Given the description of an element on the screen output the (x, y) to click on. 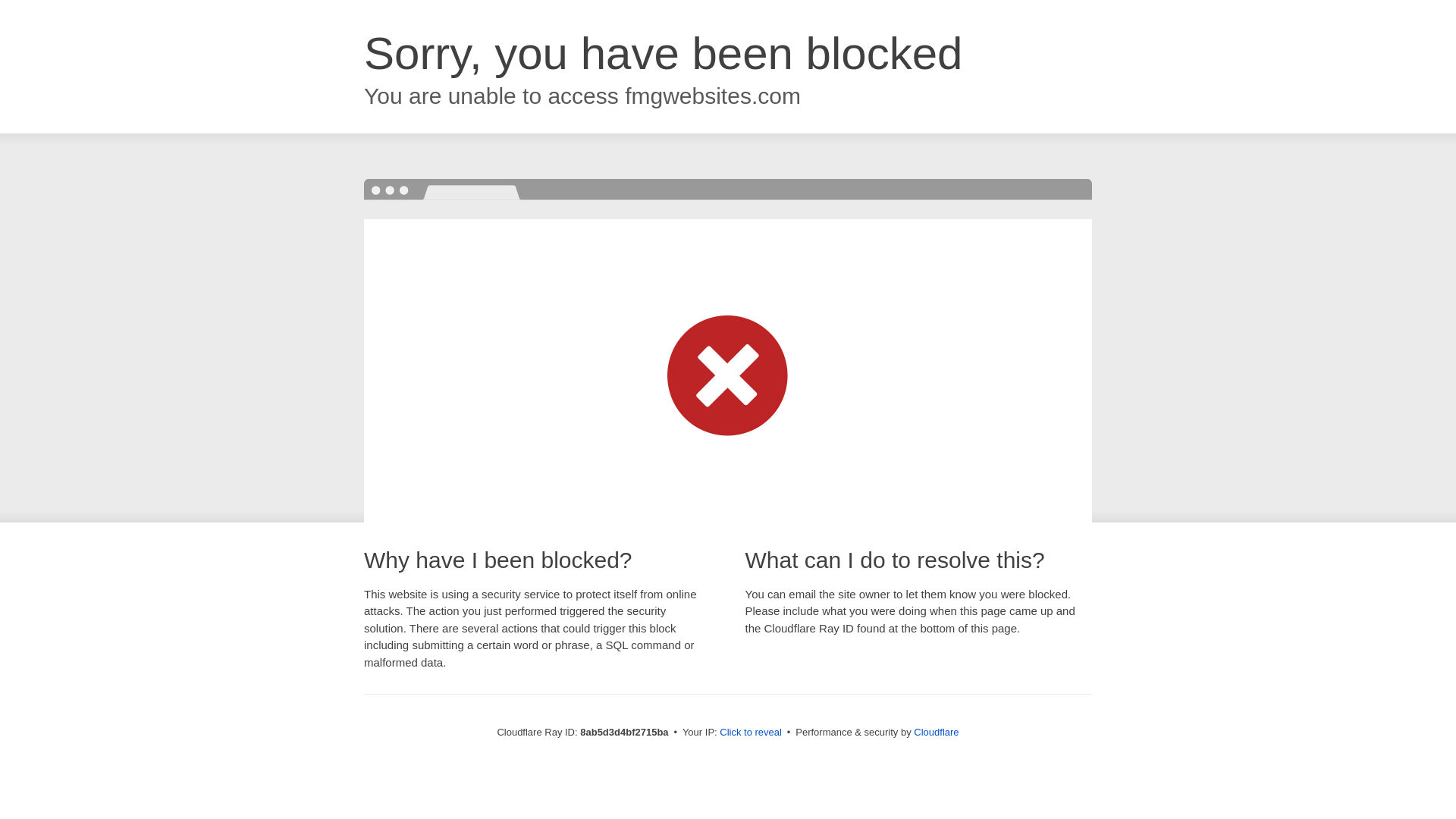
Click to reveal (750, 732)
Cloudflare (936, 731)
